Given the description of an element on the screen output the (x, y) to click on. 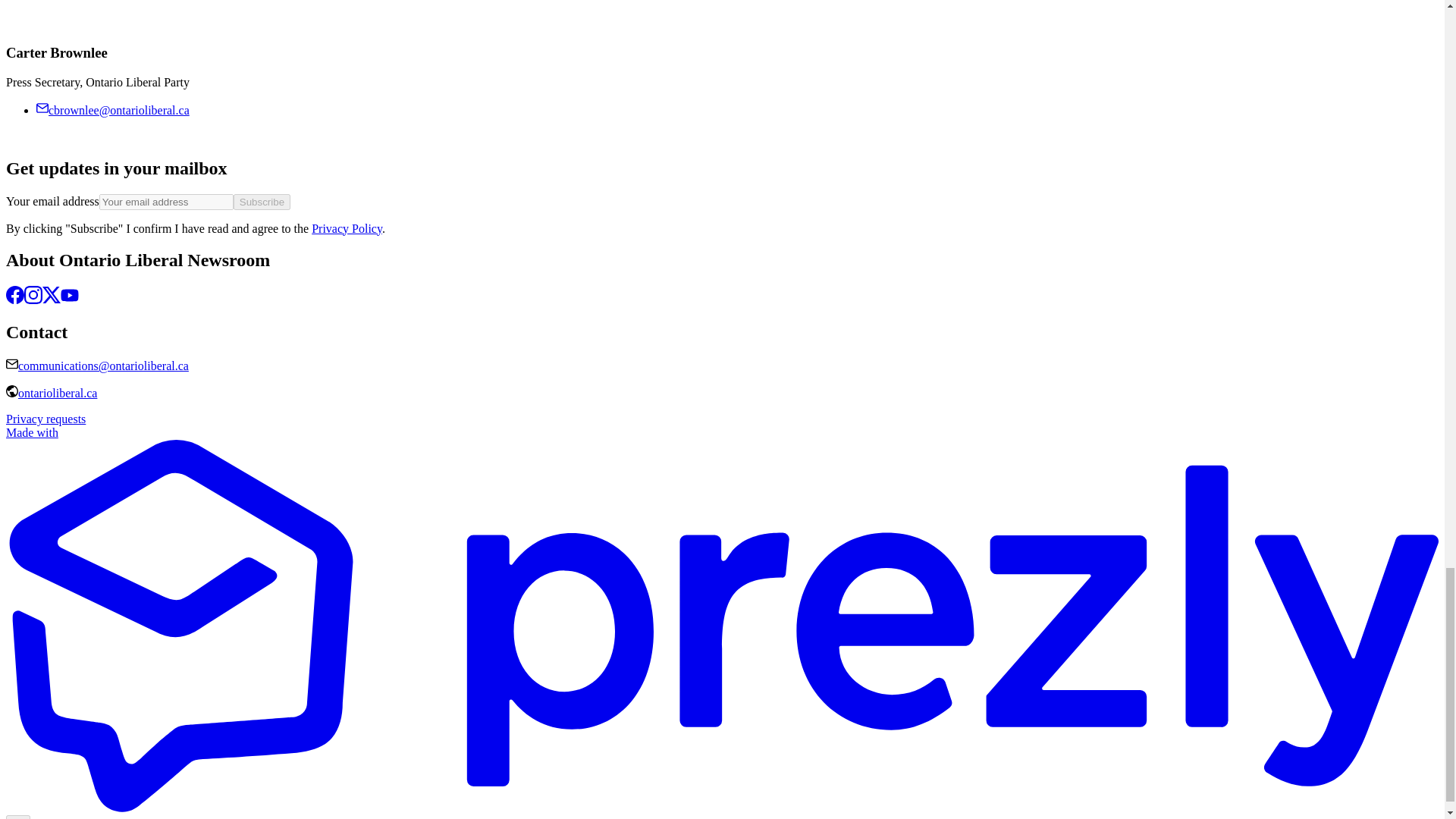
Subscribe (260, 201)
Facebook (14, 299)
Privacy Policy (346, 228)
X (51, 299)
ontarioliberal.ca (57, 392)
Youtube (69, 299)
Privacy requests (45, 418)
Instagram (33, 299)
